Given the description of an element on the screen output the (x, y) to click on. 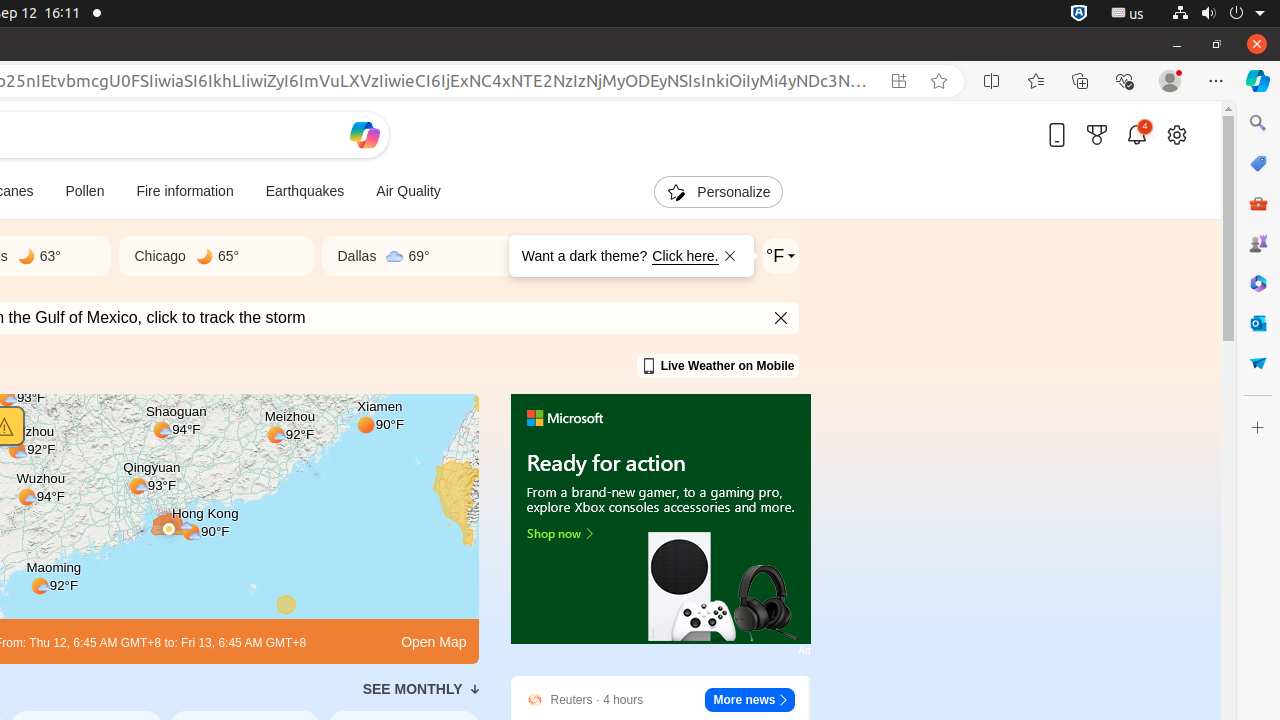
Dallas Cloudy 69° Element type: push-button (419, 256)
See Monthly Element type: push-button (420, 689)
Chicago Clear 65° Element type: push-button (216, 256)
:1.21/StatusNotifierItem Element type: menu (1127, 13)
Search Element type: push-button (1258, 123)
